Given the description of an element on the screen output the (x, y) to click on. 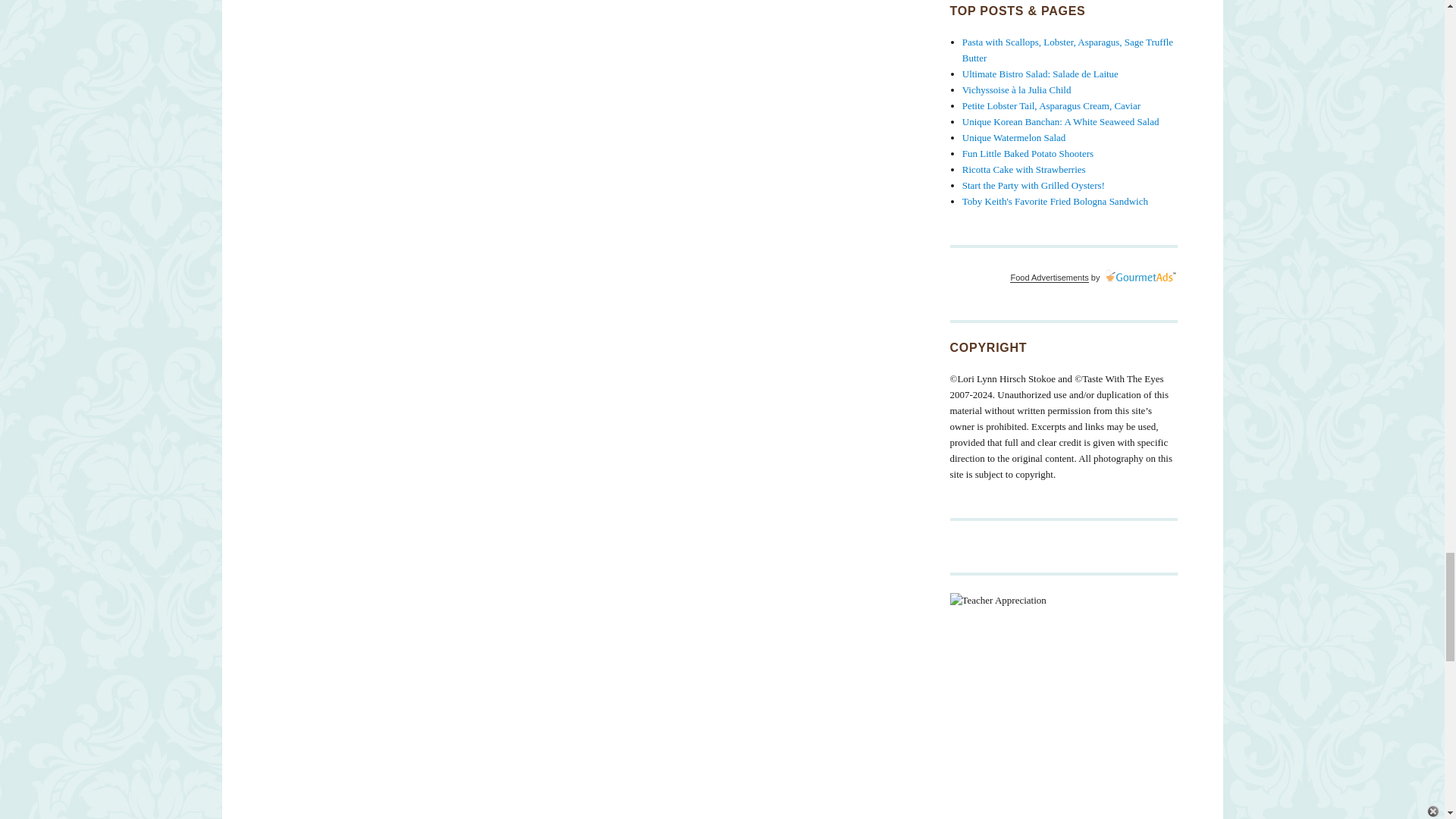
Food Advertisements (1048, 276)
